Given the description of an element on the screen output the (x, y) to click on. 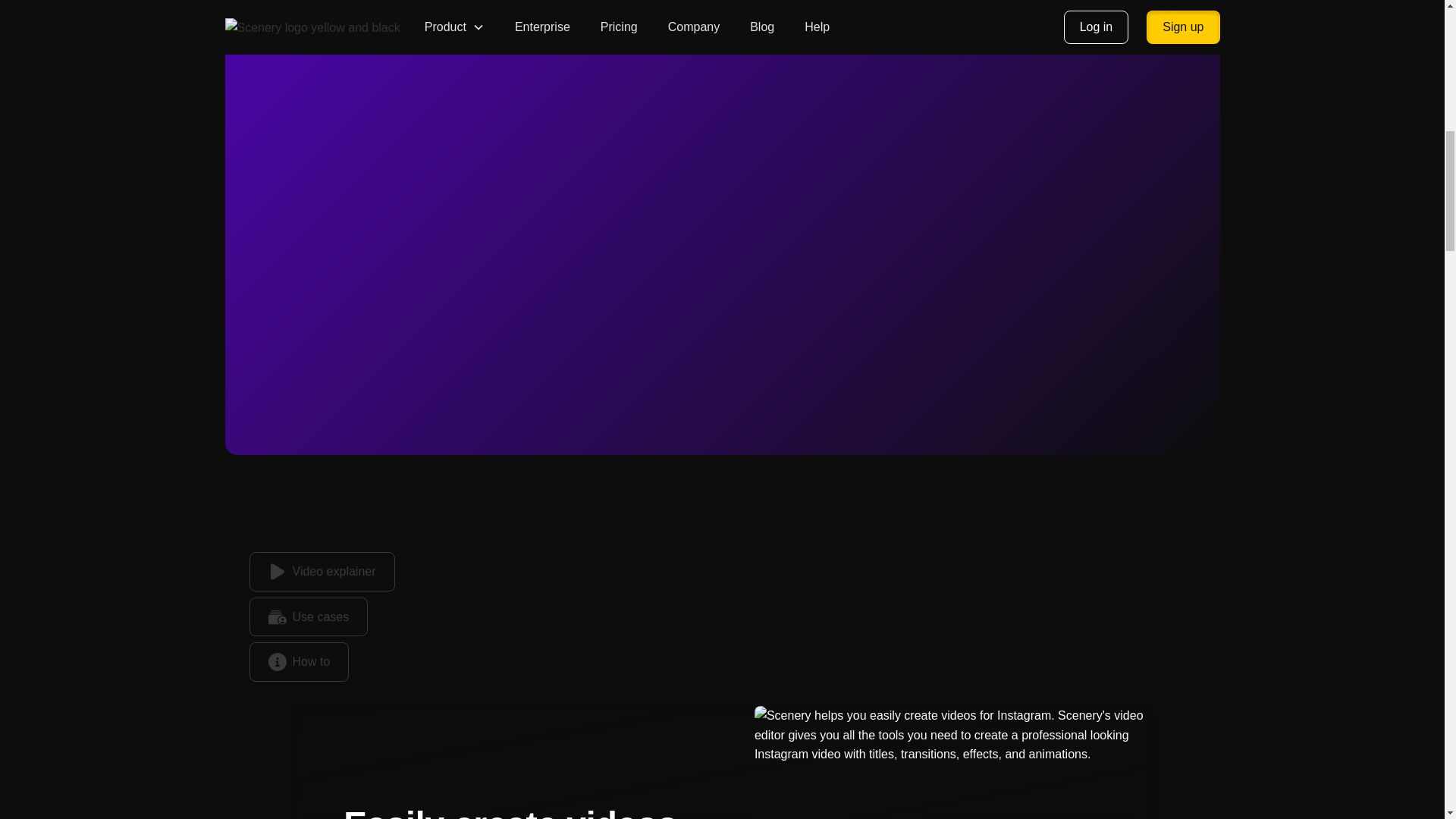
How to (298, 661)
Video explainer (321, 571)
Use cases (308, 617)
